Given the description of an element on the screen output the (x, y) to click on. 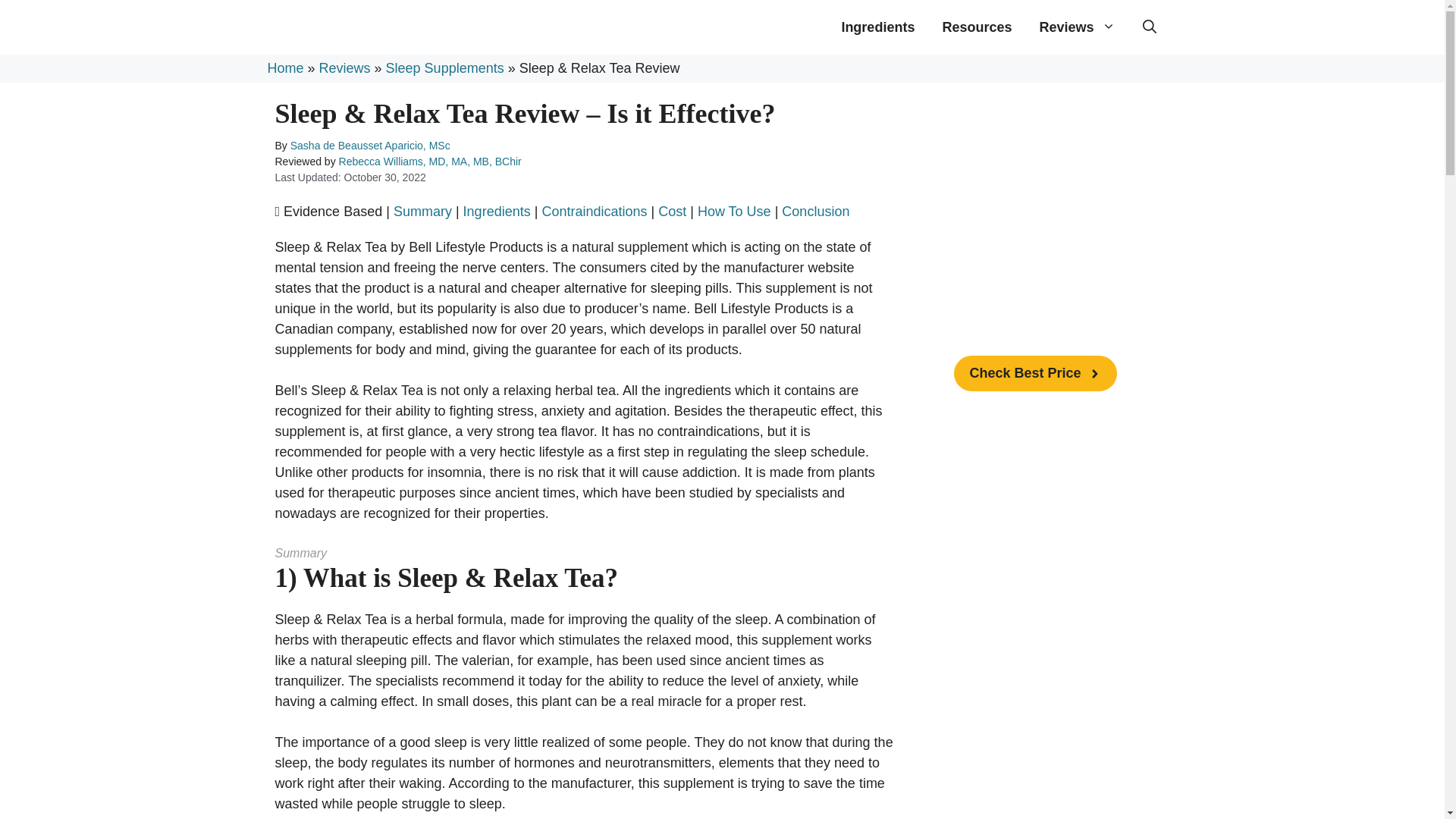
Resources (976, 26)
Rebecca Williams, MD, MA, MB, BChir (430, 161)
How To Use (734, 211)
Reviews (344, 68)
Summary (422, 211)
Ingredients (497, 211)
Reviews (1076, 26)
Ingredients (877, 26)
Conclusion (814, 211)
Cost (671, 211)
